Given the description of an element on the screen output the (x, y) to click on. 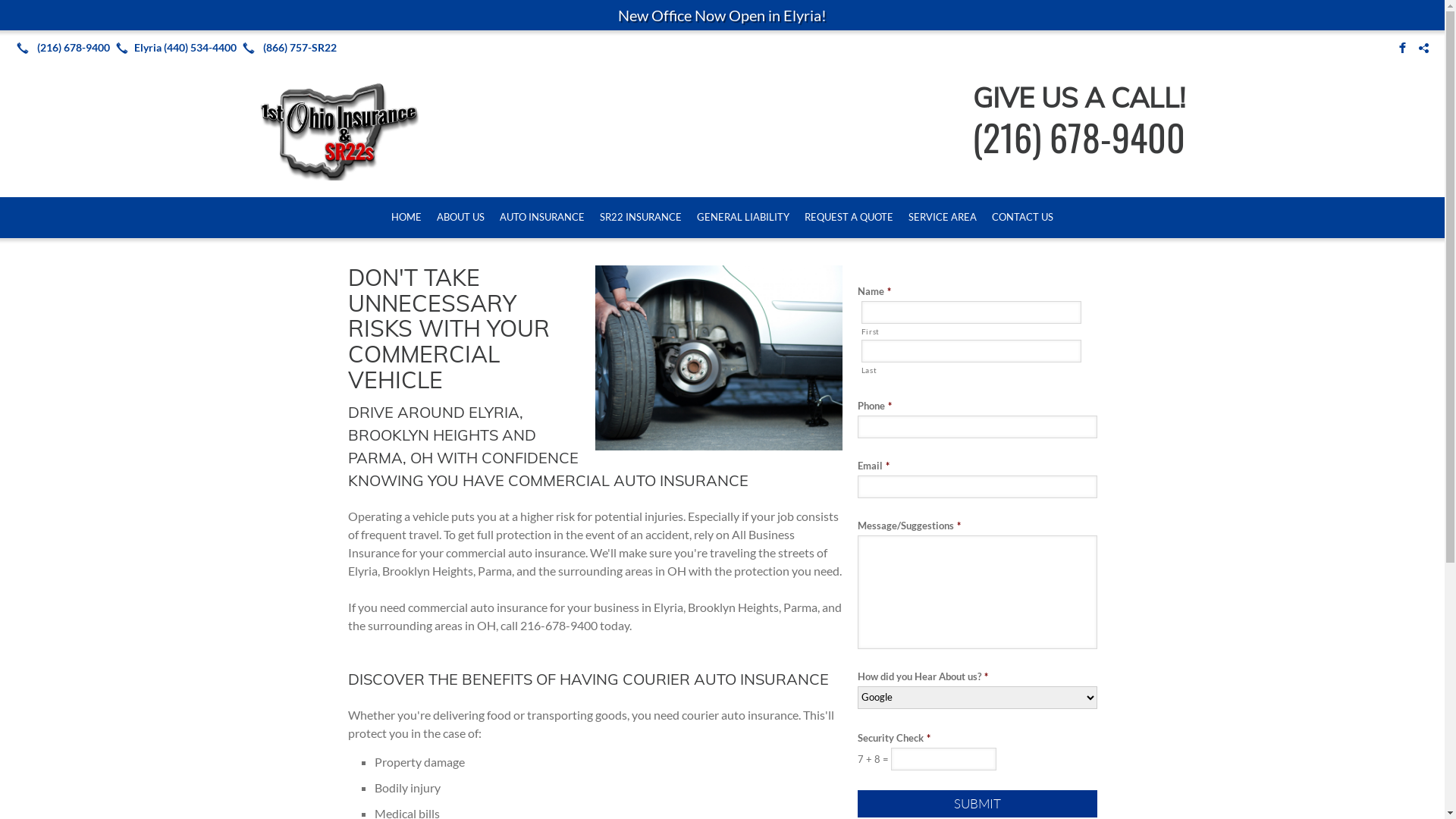
 (866) 757-SR22 Element type: hover (286, 47)
SERVICE AREA Element type: text (942, 217)
Google Element type: hover (1423, 47)
HOME Element type: text (406, 217)
Facebook Element type: hover (1401, 47)
ABOUT US Element type: text (460, 217)
New Office Now Open in Elyria! Element type: text (722, 15)
CONTACT US Element type: text (1022, 217)
 (216) 678-9400 Element type: hover (59, 47)
AUTO INSURANCE Element type: text (542, 217)
SR22 INSURANCE Element type: text (640, 217)
REQUEST A QUOTE Element type: text (848, 217)
Elyria (440) 534-4400 Element type: hover (172, 47)
GENERAL LIABILITY Element type: text (743, 217)
